Given the description of an element on the screen output the (x, y) to click on. 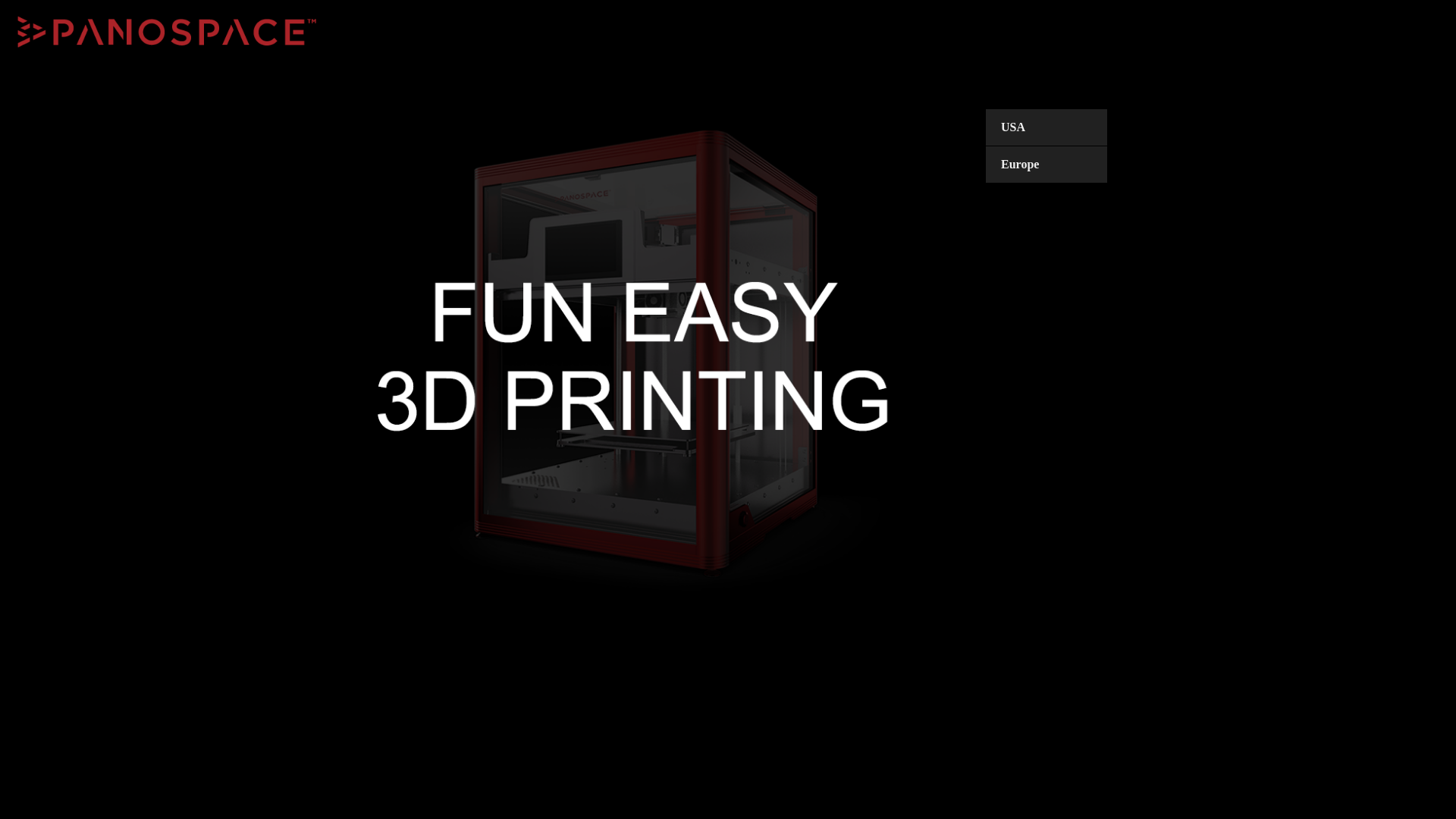
USA Element type: text (1061, 127)
Europe Element type: text (1061, 164)
